Given the description of an element on the screen output the (x, y) to click on. 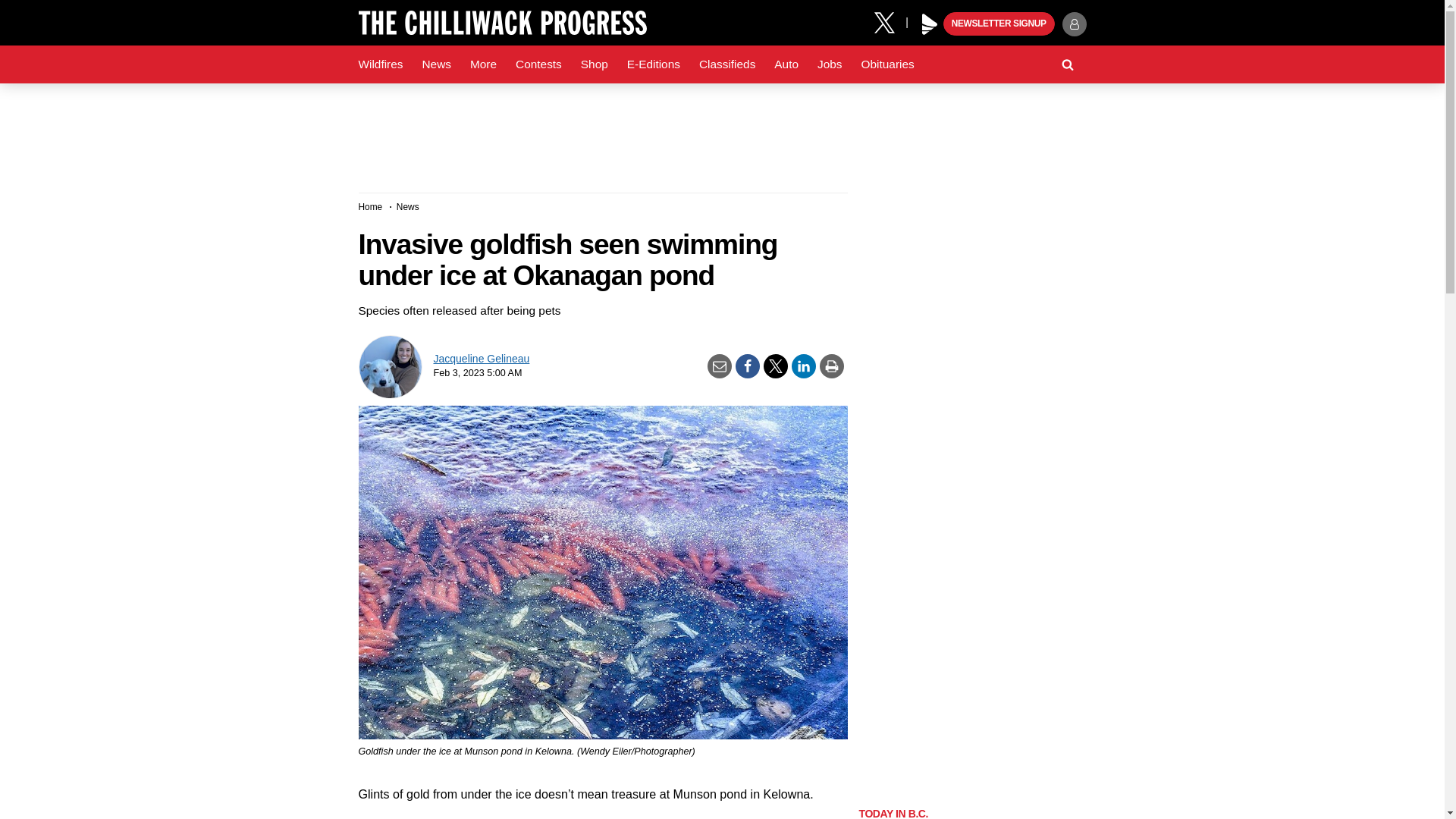
News (435, 64)
Black Press Media (929, 24)
X (889, 21)
Wildfires (380, 64)
Play (929, 24)
NEWSLETTER SIGNUP (998, 24)
